Given the description of an element on the screen output the (x, y) to click on. 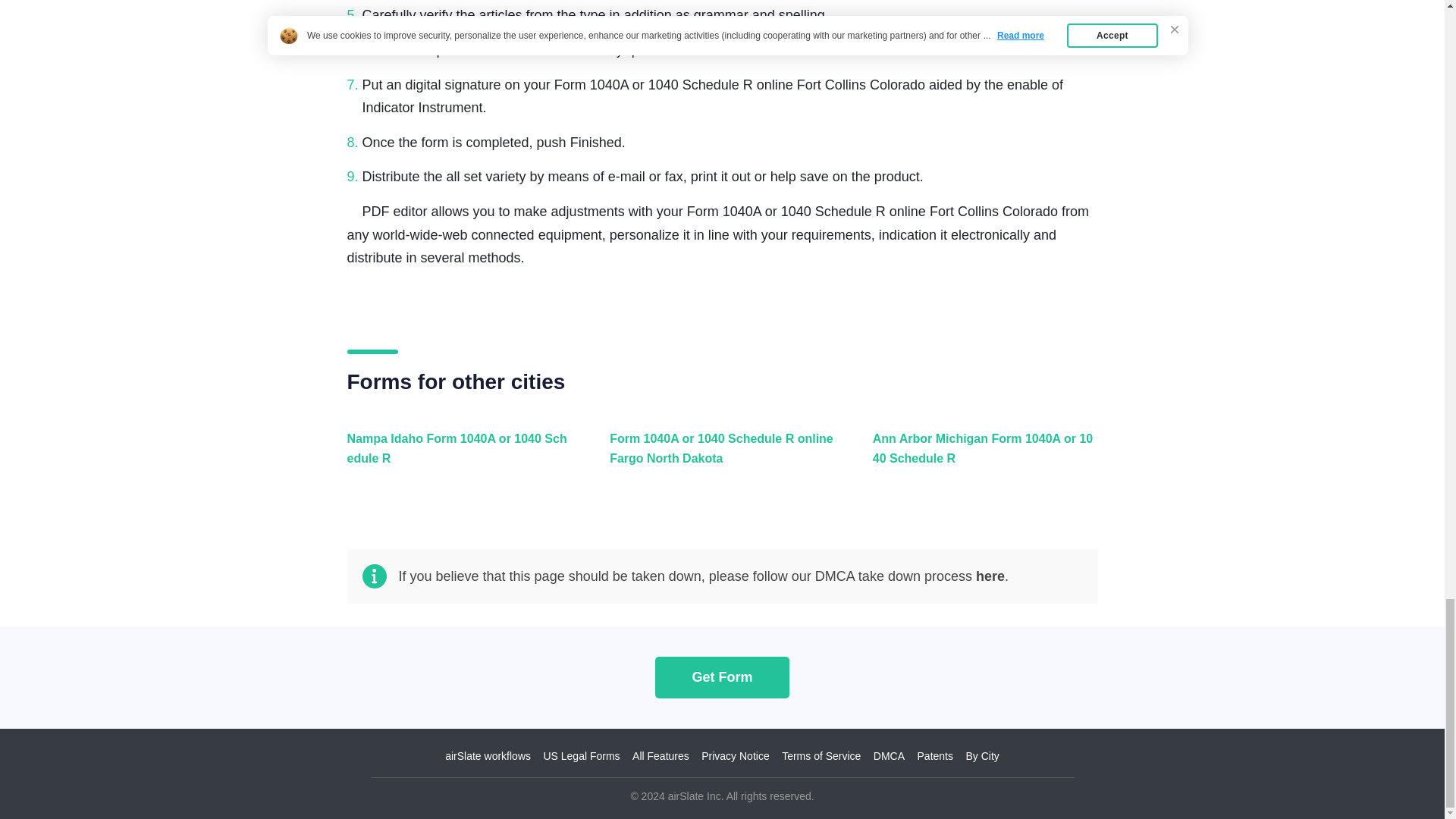
Patents (935, 756)
US Legal Forms (581, 756)
Form 1040A or 1040 Schedule R online Fargo North Dakota (718, 456)
airSlate workflows (488, 756)
Ann Arbor Michigan Form 1040A or 1040 Schedule R (981, 456)
Terms of Service (820, 756)
Privacy Notice (734, 756)
By City (981, 756)
Get Form (722, 676)
here (989, 575)
All Features (659, 756)
Nampa Idaho Form 1040A or 1040 Schedule R (456, 456)
DMCA (888, 756)
